Given the description of an element on the screen output the (x, y) to click on. 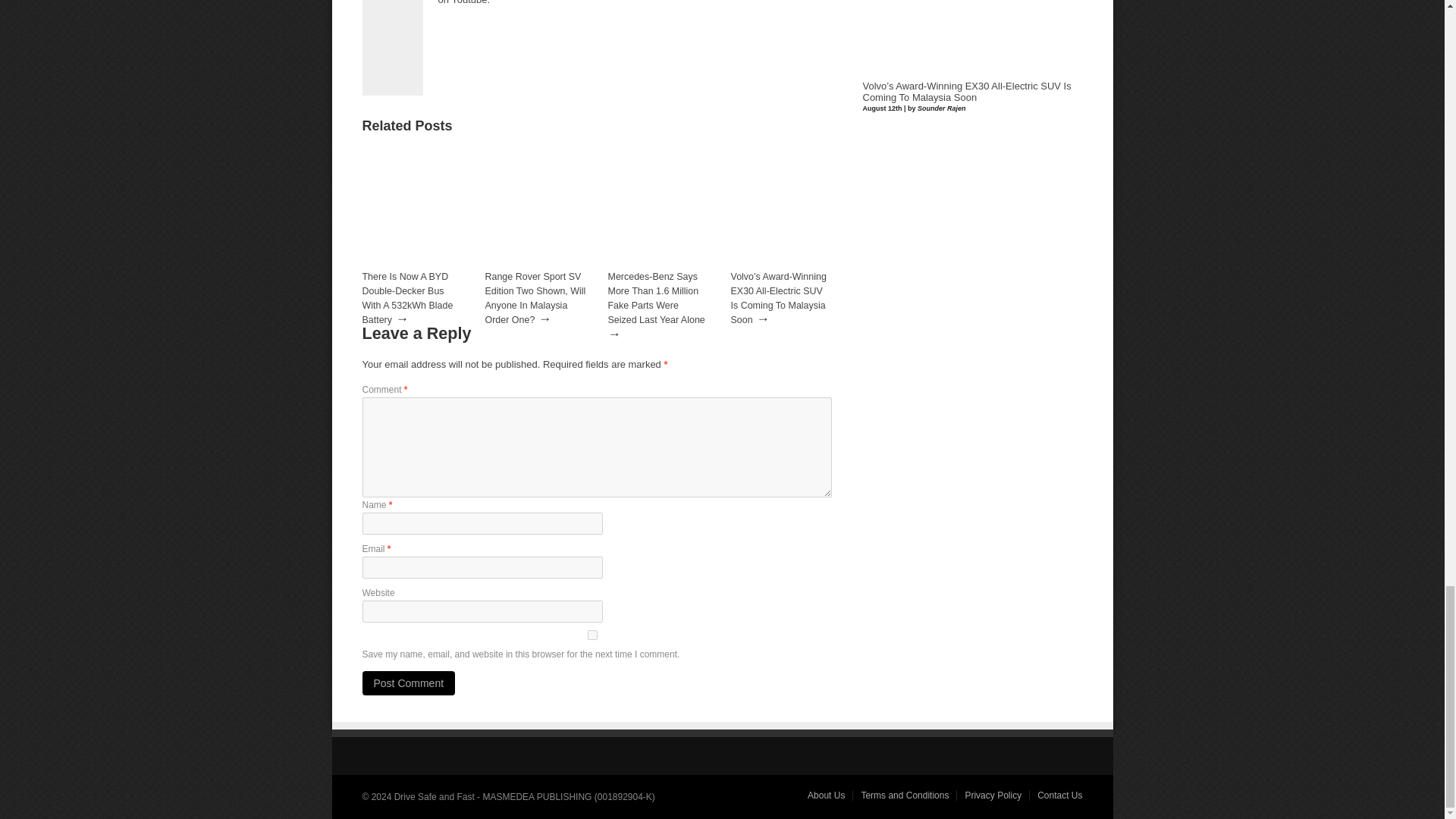
yes (593, 634)
Post Comment (408, 682)
Post Comment (408, 682)
